Given the description of an element on the screen output the (x, y) to click on. 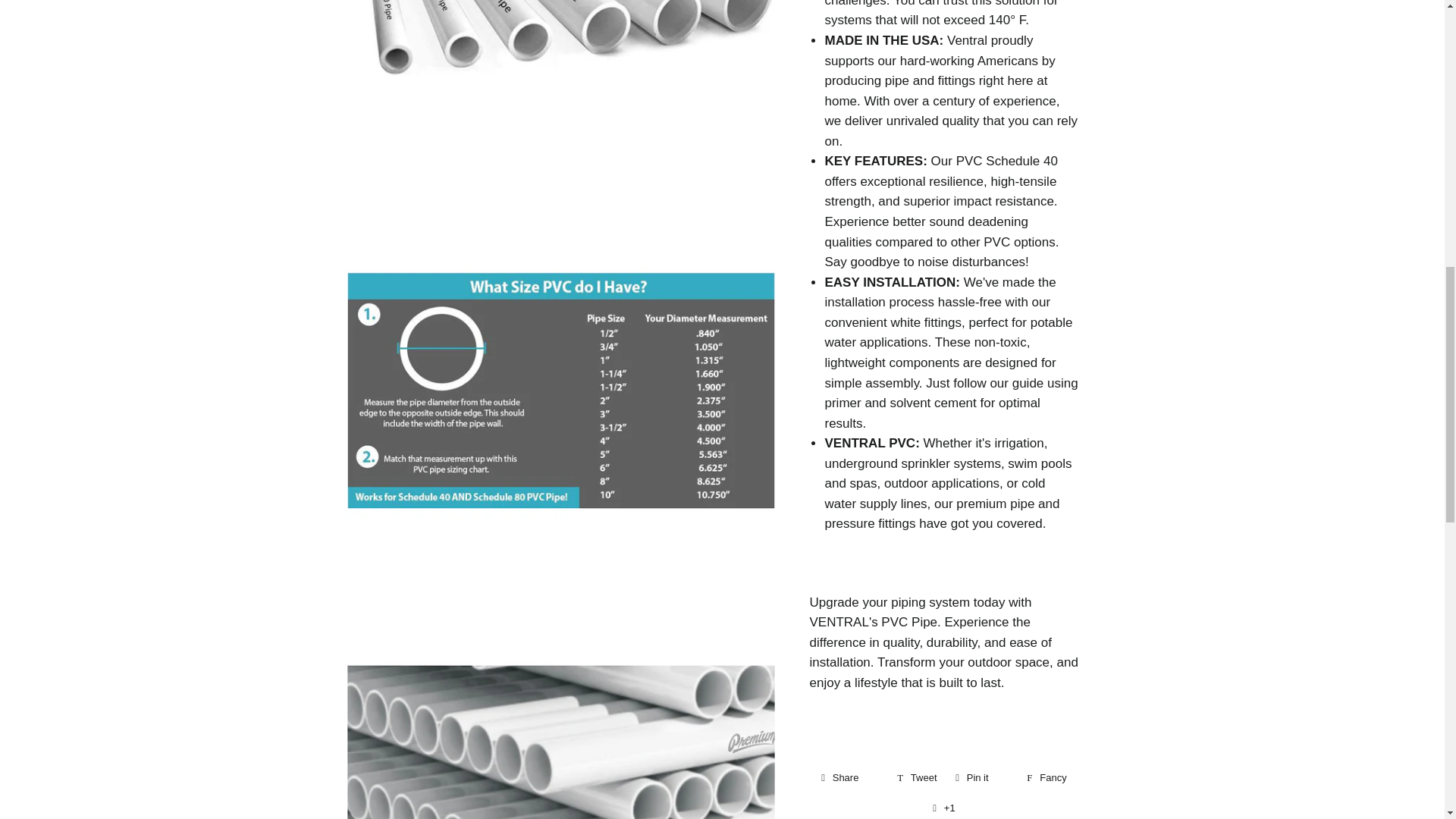
Tweet on Twitter (1046, 777)
Pin on Pinterest (980, 777)
Share on Facebook (916, 777)
Add to Fancy (849, 777)
